Given the description of an element on the screen output the (x, y) to click on. 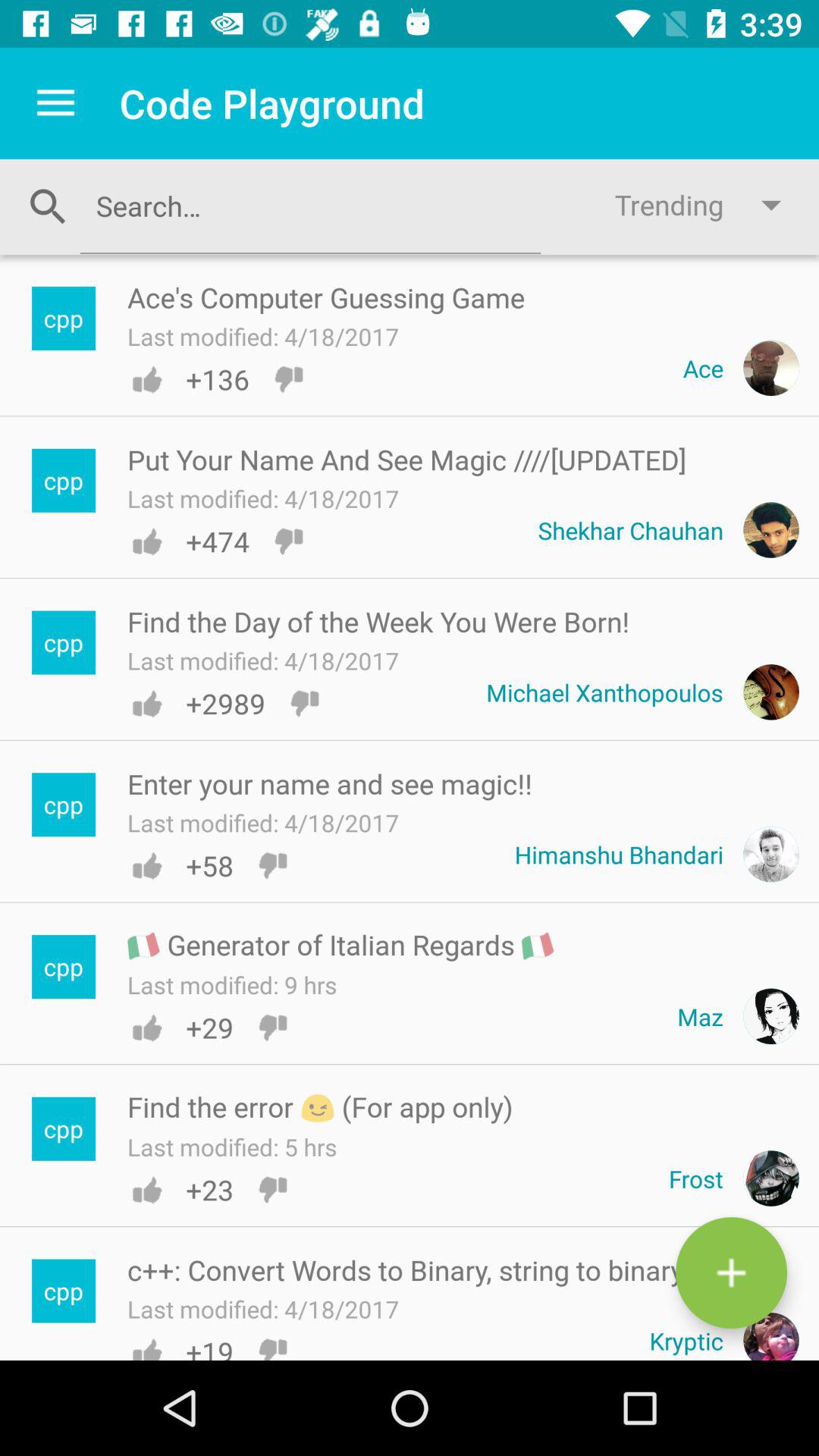
add button (731, 1272)
